Given the description of an element on the screen output the (x, y) to click on. 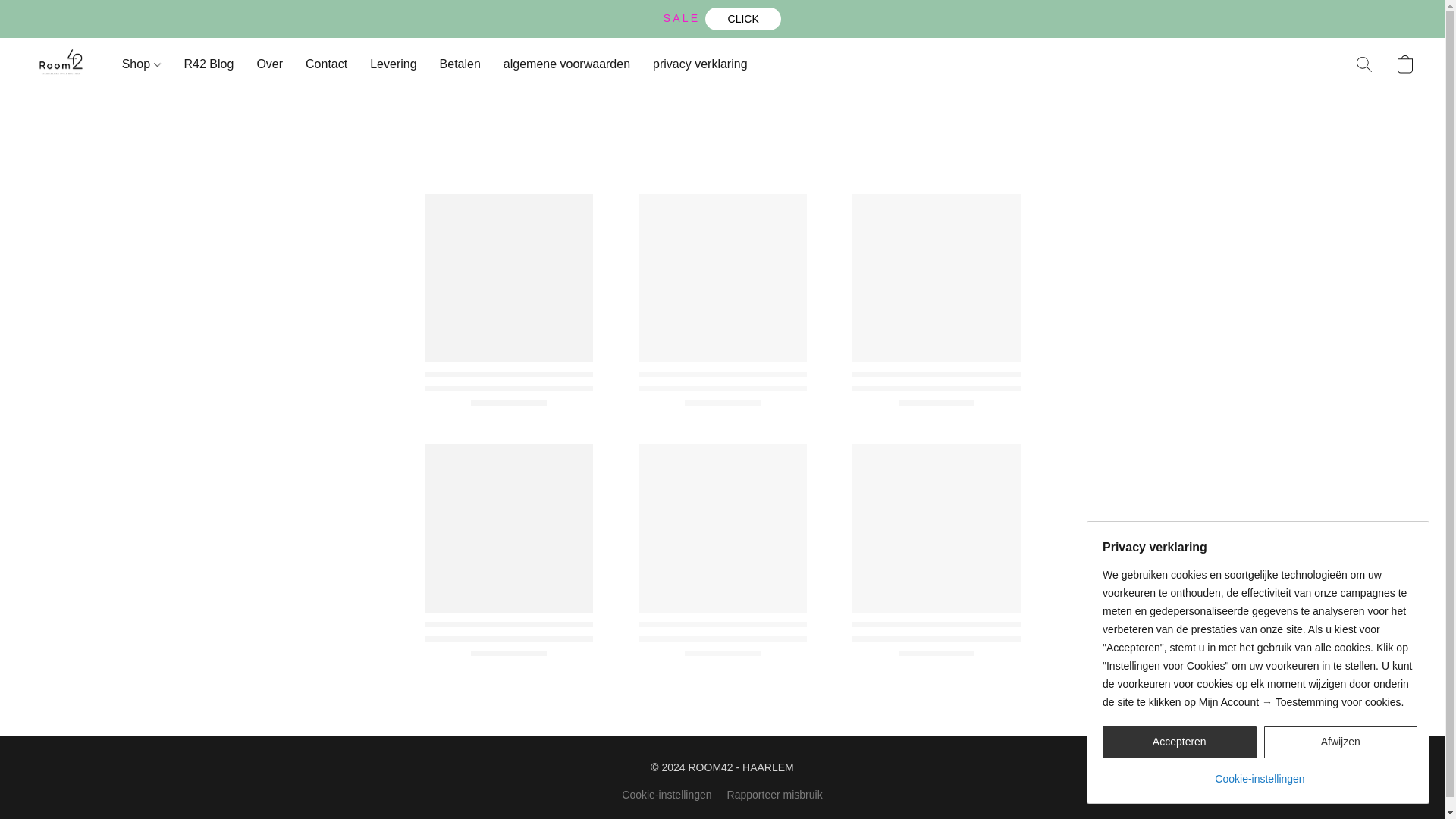
Zoeken op website (1363, 64)
privacy verklaring (694, 63)
Accepteren (1179, 742)
Ga naar winkelwagen (1404, 64)
Over (269, 63)
Afwijzen (1339, 742)
Cookie-instellingen (666, 794)
Rapporteer misbruik (774, 794)
algemene voorwaarden (567, 63)
Shop (147, 63)
R42 Blog (209, 63)
CLICK (742, 18)
Contact (326, 63)
Cookie-instellingen (1259, 772)
Betalen (460, 63)
